Given the description of an element on the screen output the (x, y) to click on. 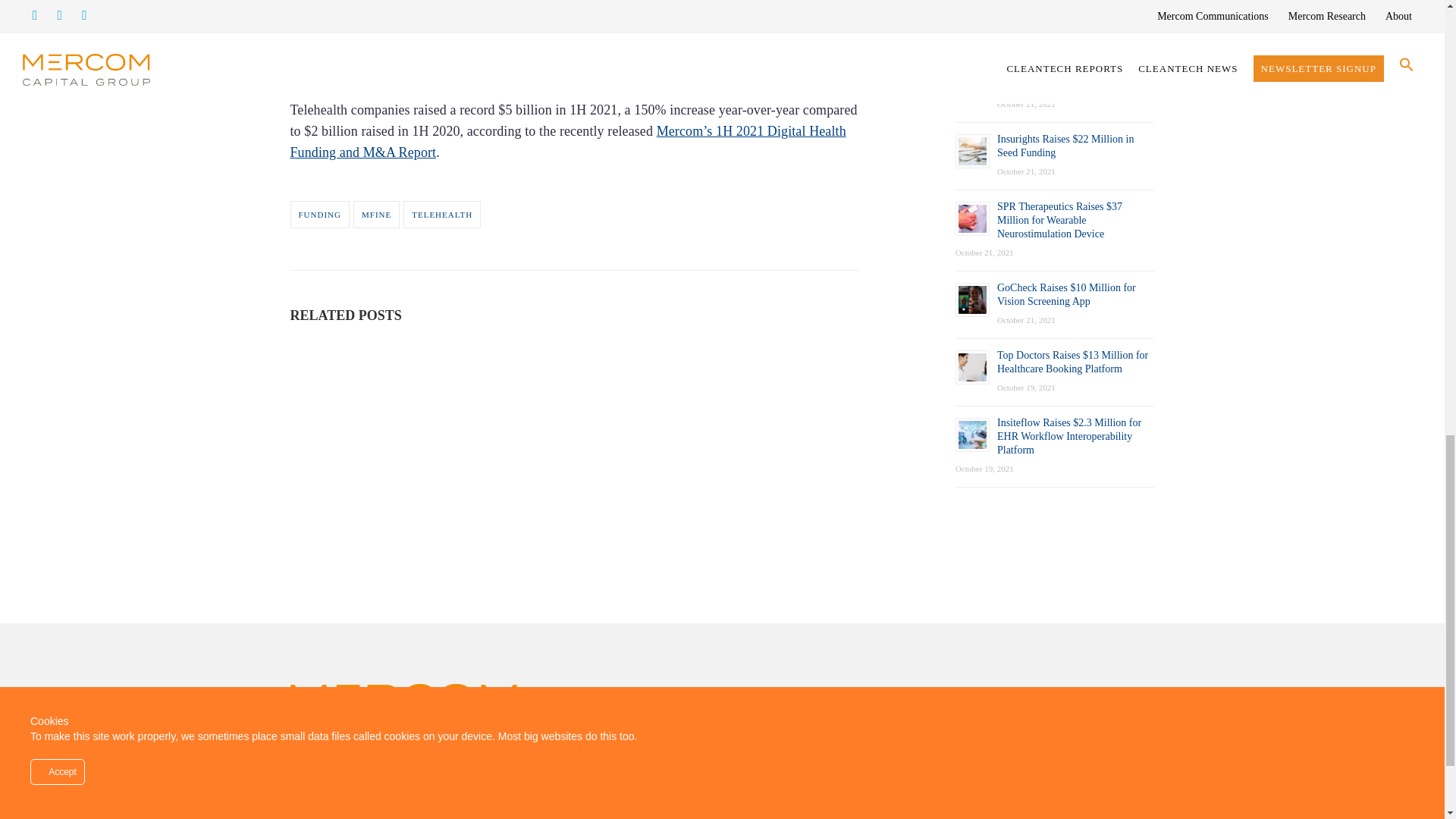
TELEHEALTH (441, 214)
FUNDING (319, 214)
MFINE (375, 214)
